Given the description of an element on the screen output the (x, y) to click on. 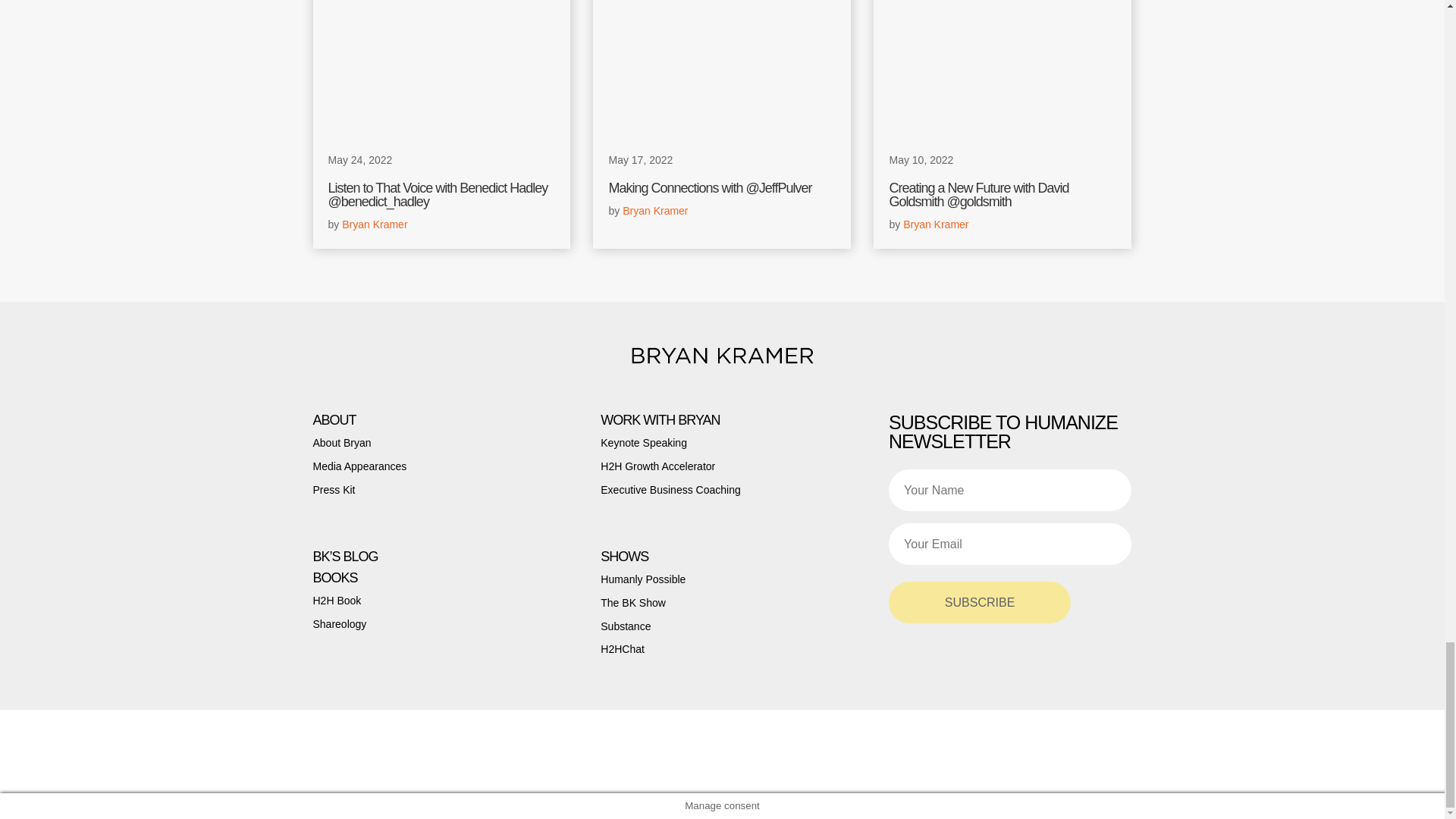
Bryan Kramer (374, 224)
Subscribe (979, 602)
Media Appearances (359, 466)
Bryan Kramer (655, 210)
Bryan Kramer (935, 224)
About Bryan (342, 442)
Bryan Kramer (935, 224)
Bryan Kramer (655, 210)
Bryan Kramer (374, 224)
